Given the description of an element on the screen output the (x, y) to click on. 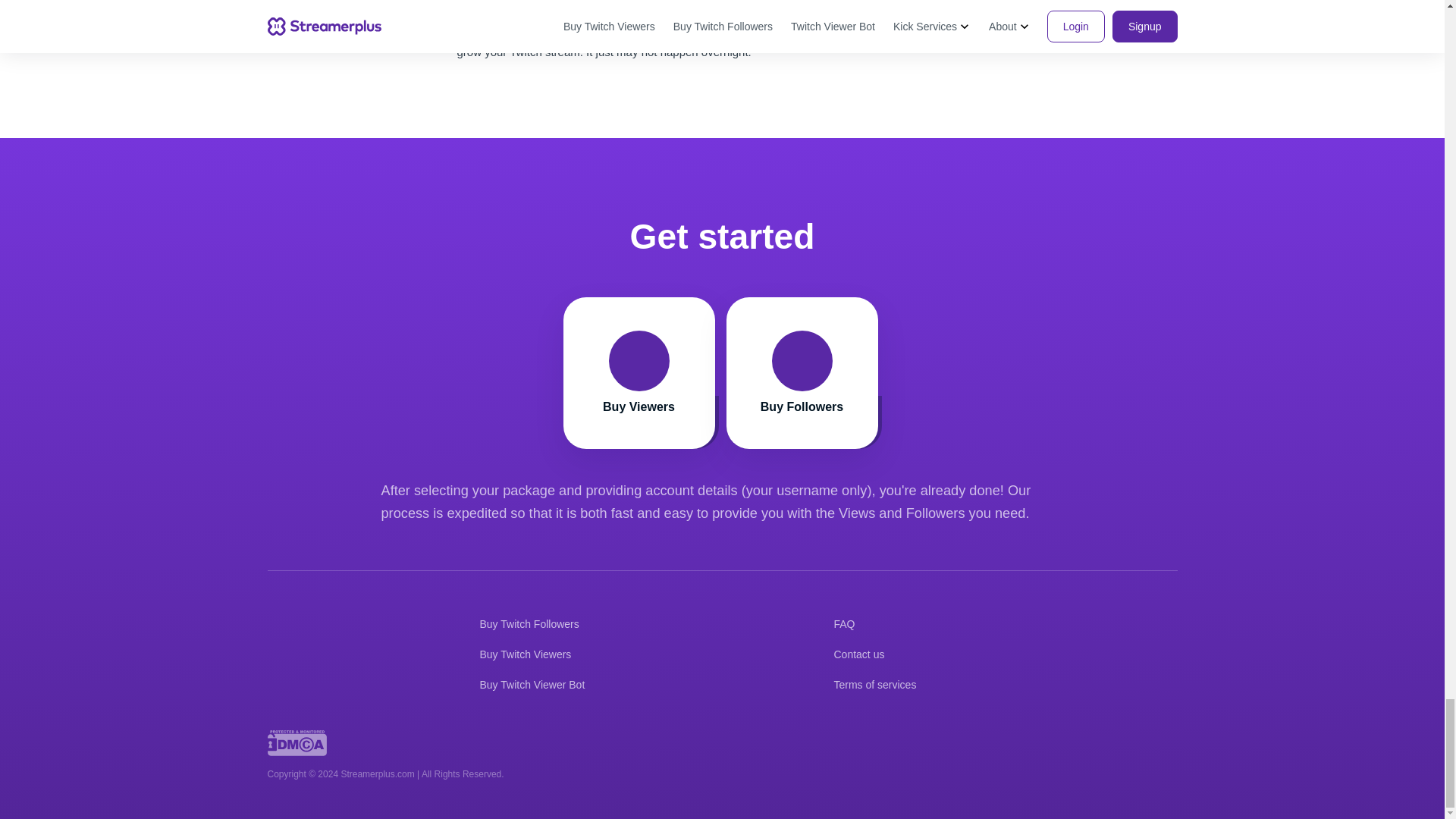
Buy Twitch Followers (639, 372)
Buy Twitch Viewers (534, 624)
Buy Twitch Viewer Bot (530, 654)
Contact us (537, 684)
Terms of services (865, 654)
FAQ (881, 684)
